Given the description of an element on the screen output the (x, y) to click on. 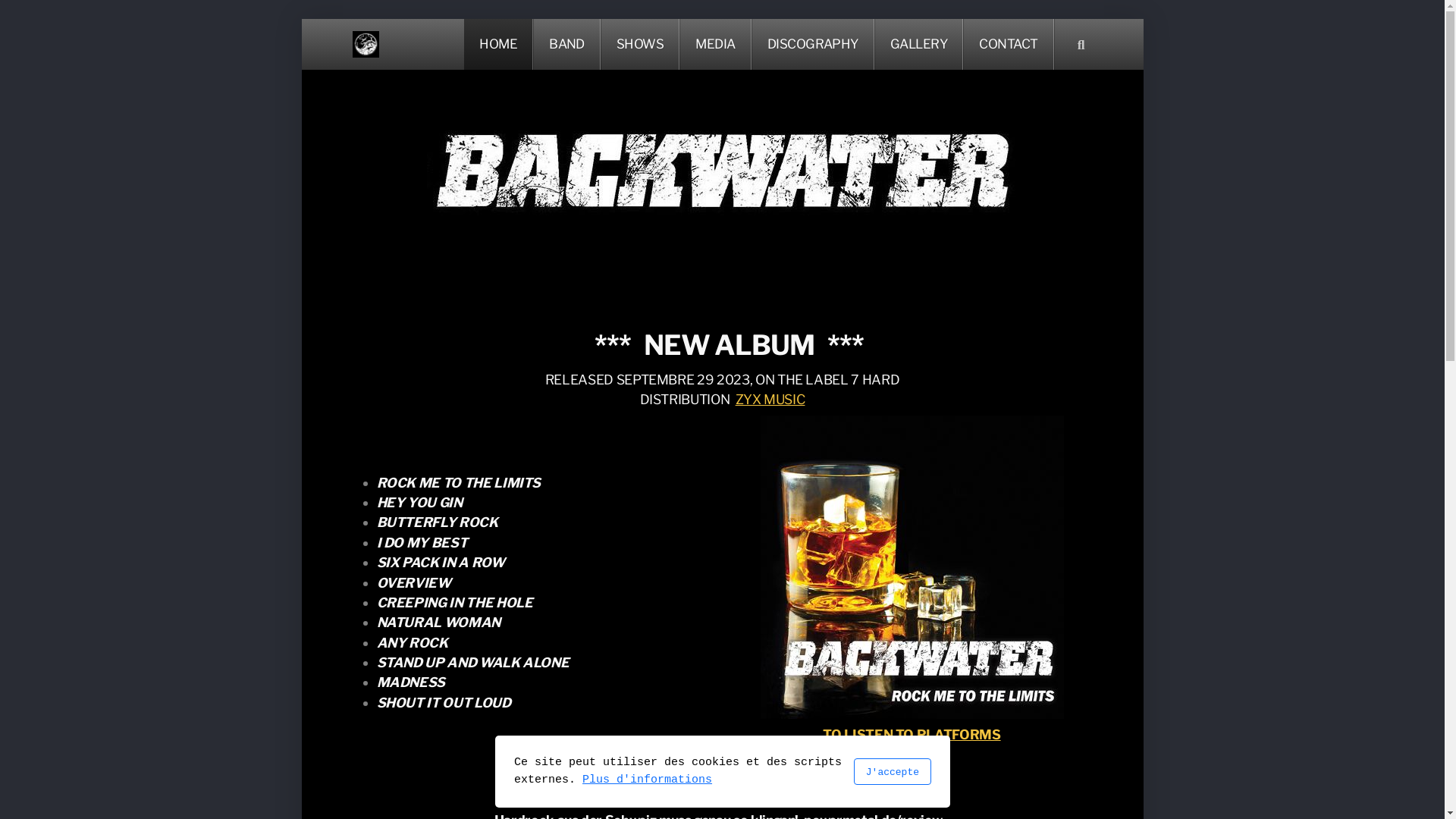
MEDIA Element type: text (715, 43)
GALLERY Element type: text (919, 43)
TO LISTEN TO PLATFORMS Element type: text (911, 734)
DISCOGRAPHY Element type: text (813, 43)
ZYX MUSIC Element type: text (770, 399)
HOME Element type: text (498, 43)
CONTACT Element type: text (1008, 43)
Plus d'informations Element type: text (647, 779)
BAND Element type: text (566, 43)
J'accepte Element type: text (891, 771)
SHOWS Element type: text (640, 43)
